Given the description of an element on the screen output the (x, y) to click on. 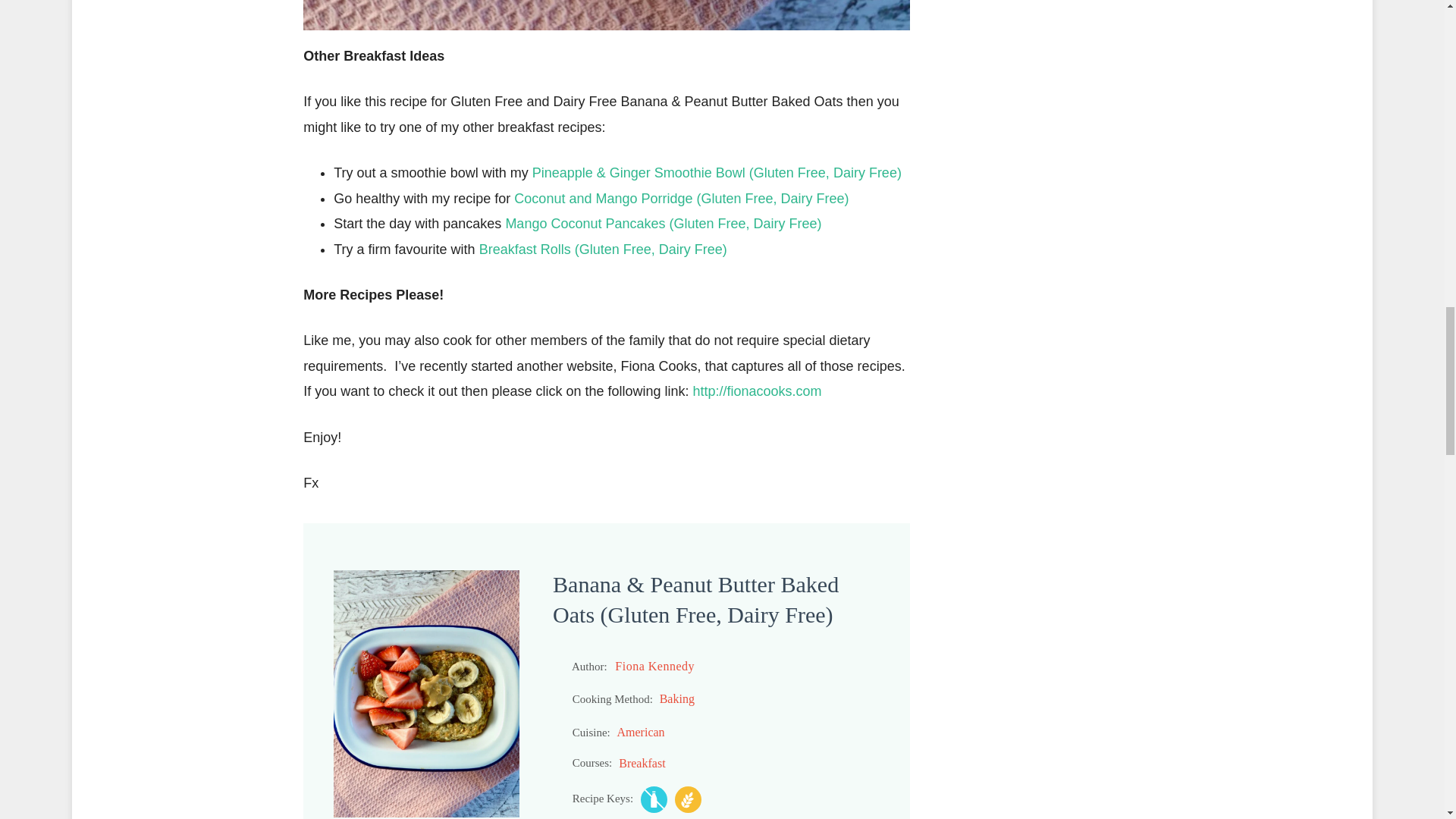
dairy-free (653, 799)
Dairy Free (653, 799)
Gluten Free (688, 799)
